Given the description of an element on the screen output the (x, y) to click on. 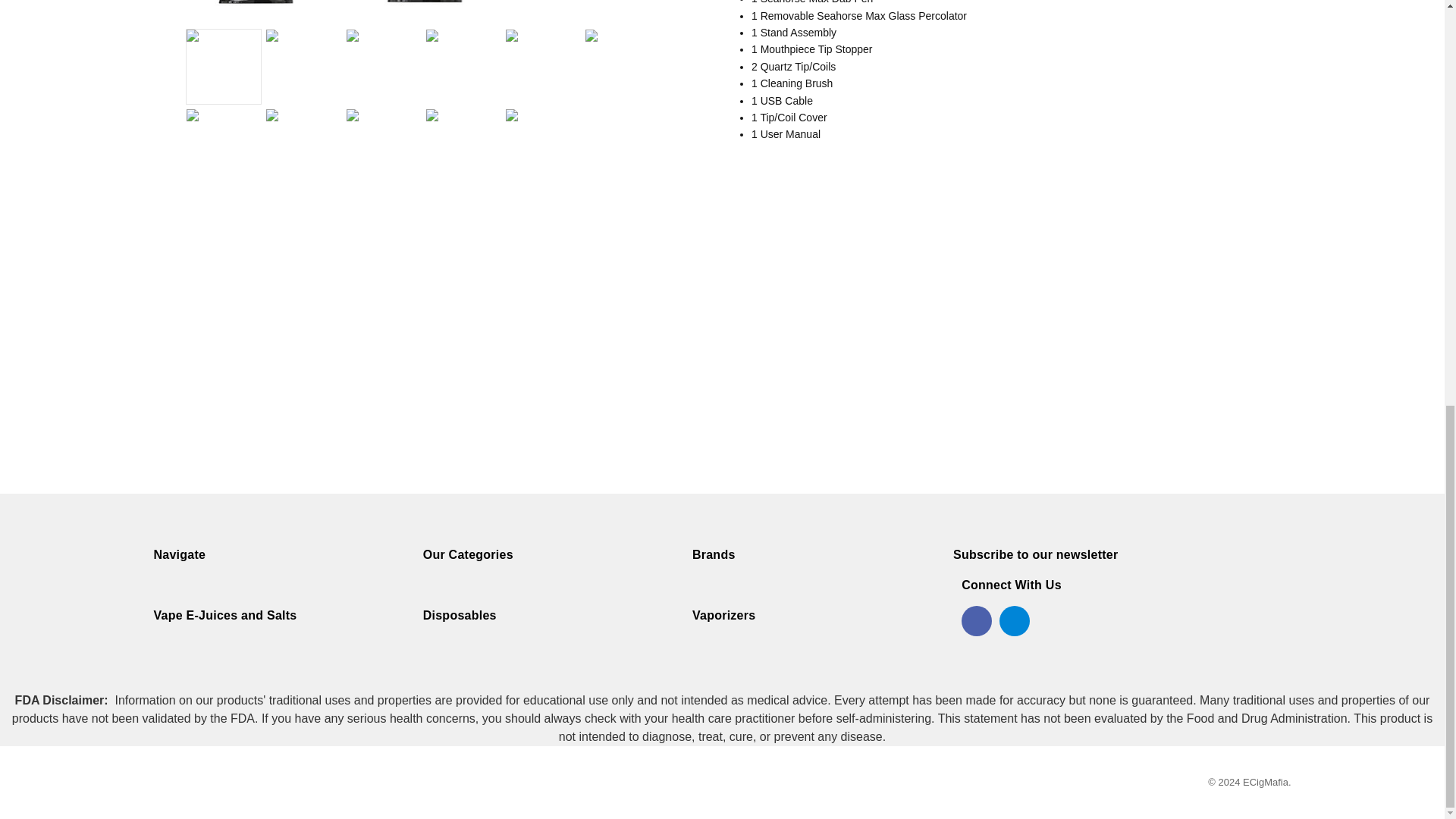
Lookah Seahorse Max Kit  (224, 66)
Lookah Seahorse Max Kit  (428, 9)
Lookah Seahorse Max Kit  (302, 66)
